Given the description of an element on the screen output the (x, y) to click on. 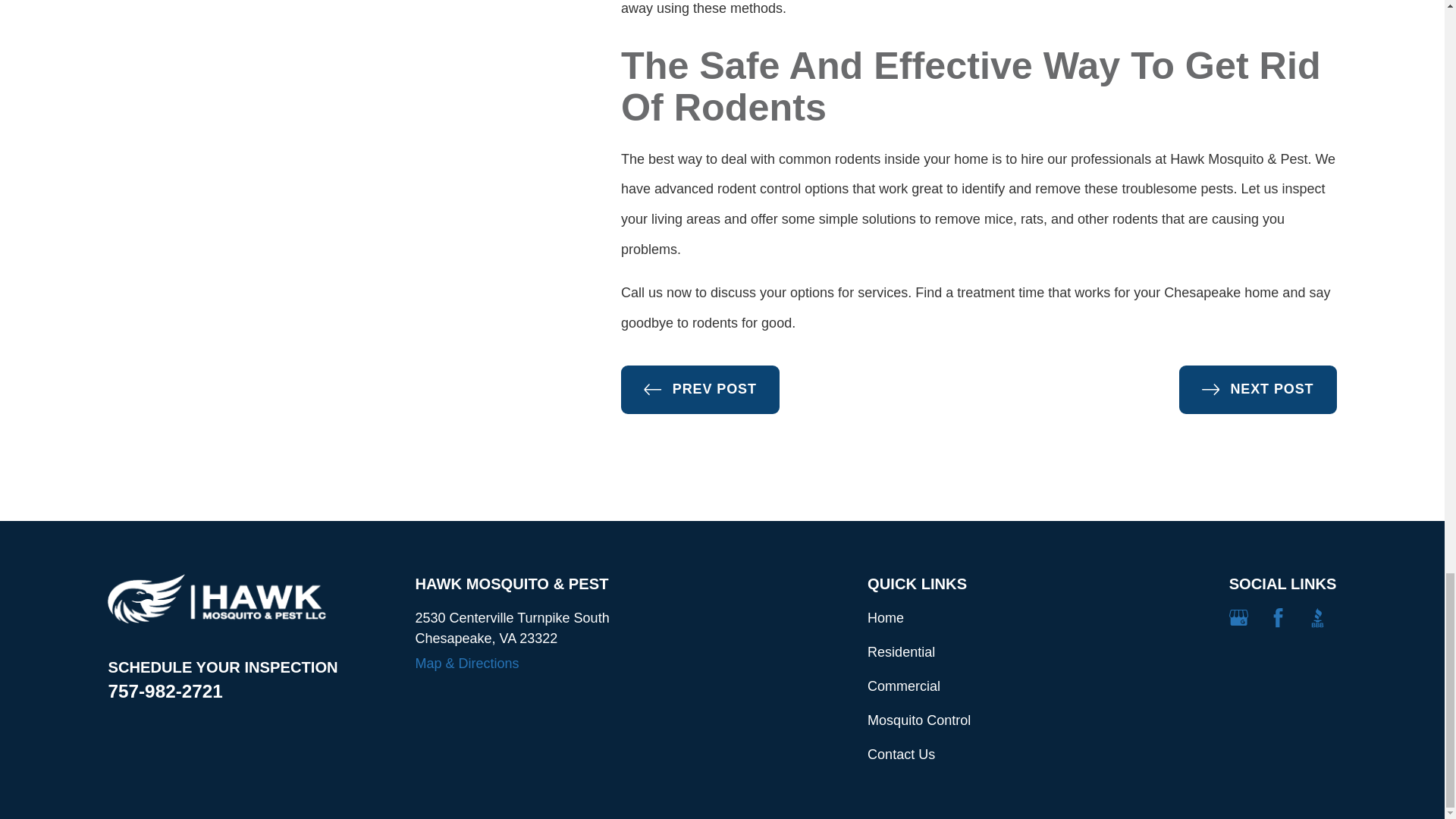
BBB.org (1316, 617)
Home (216, 598)
Google Business Profile (1237, 617)
Facebook (1277, 617)
